Given the description of an element on the screen output the (x, y) to click on. 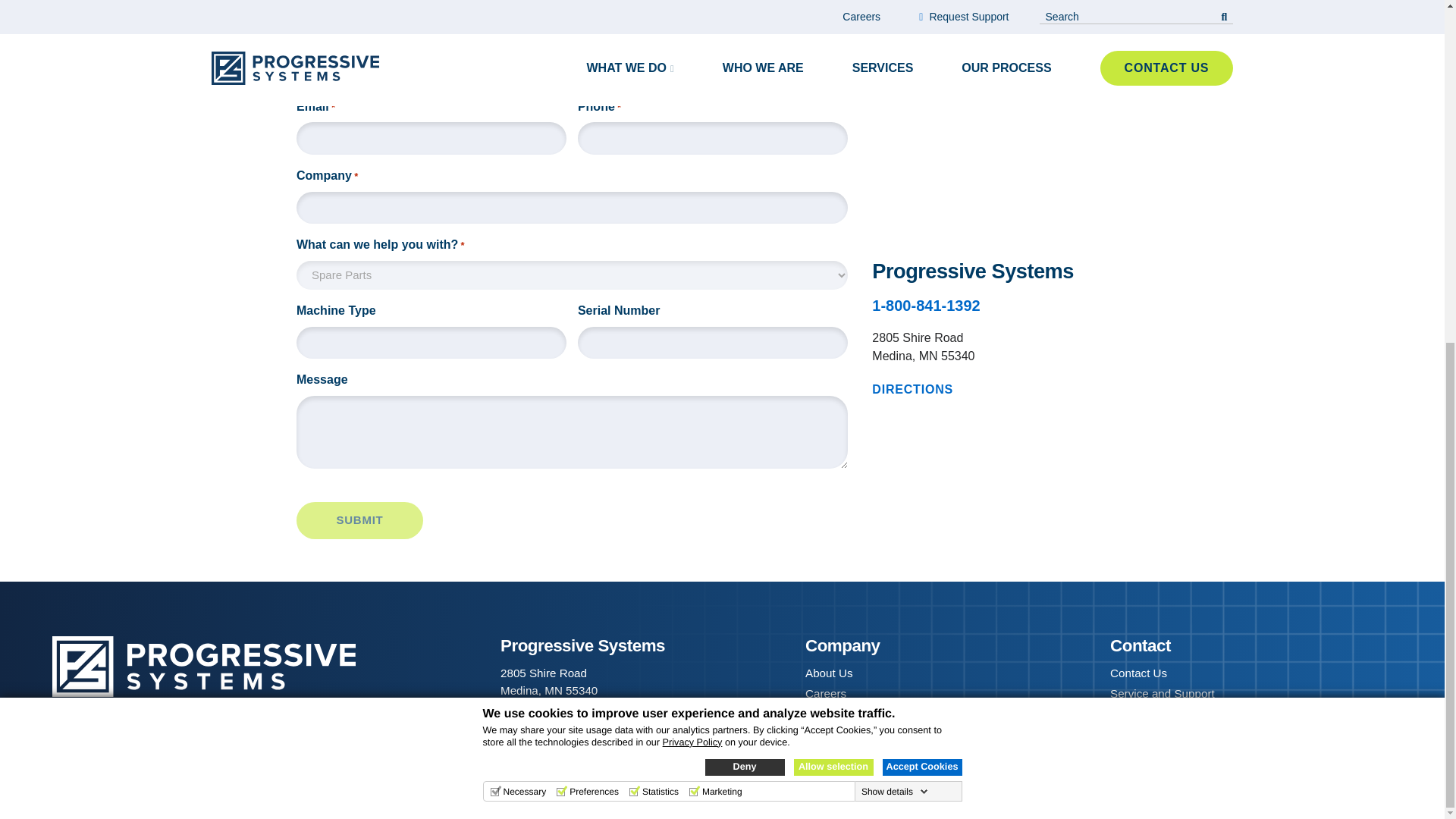
Deny (744, 182)
Accept Cookies (922, 182)
Allow selection (832, 182)
Privacy Policy (692, 157)
Show details (895, 206)
